Given the description of an element on the screen output the (x, y) to click on. 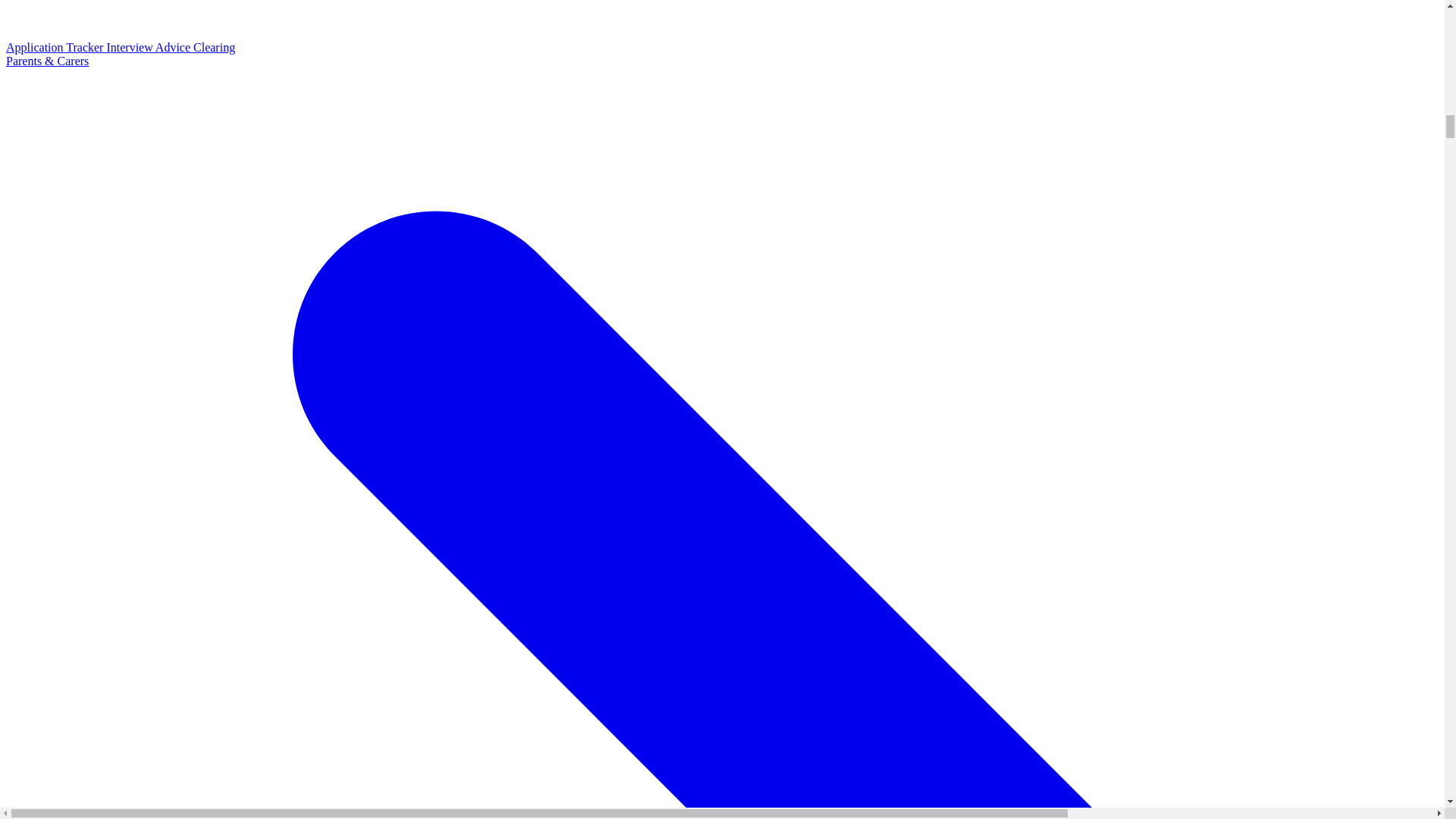
Interview Advice (149, 47)
Clearing (213, 47)
Application Tracker (55, 47)
How to Apply (721, 20)
